Given the description of an element on the screen output the (x, y) to click on. 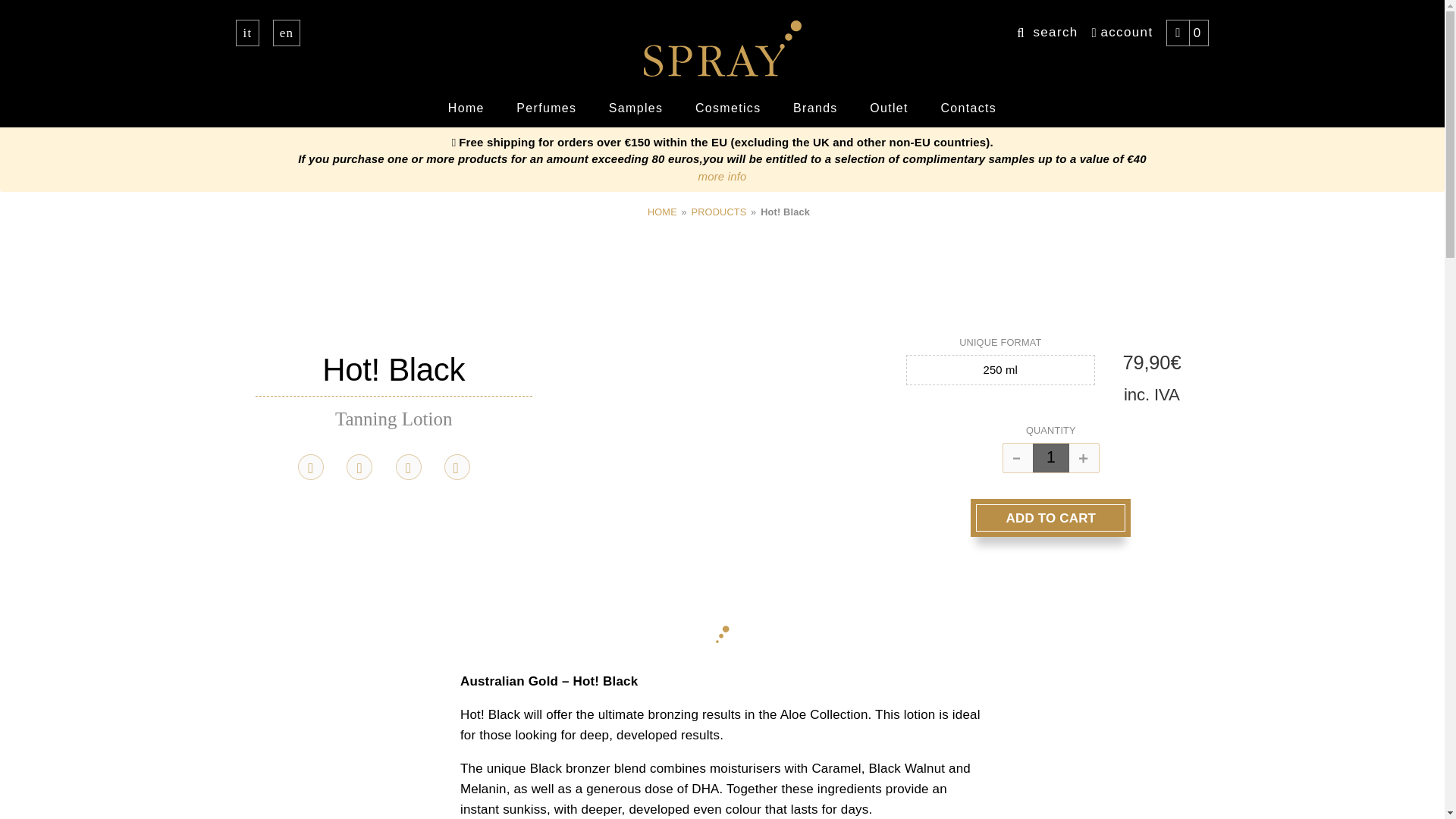
HOME (662, 211)
search (1047, 31)
0 (1186, 33)
Perfumes (546, 108)
Cosmetics (728, 108)
Home (466, 108)
ADD TO CART (1050, 517)
Contacts (967, 108)
en (286, 33)
Qty (1050, 458)
Brands (815, 108)
it (246, 33)
1 (1050, 458)
Samples (635, 108)
account (1122, 31)
